Given the description of an element on the screen output the (x, y) to click on. 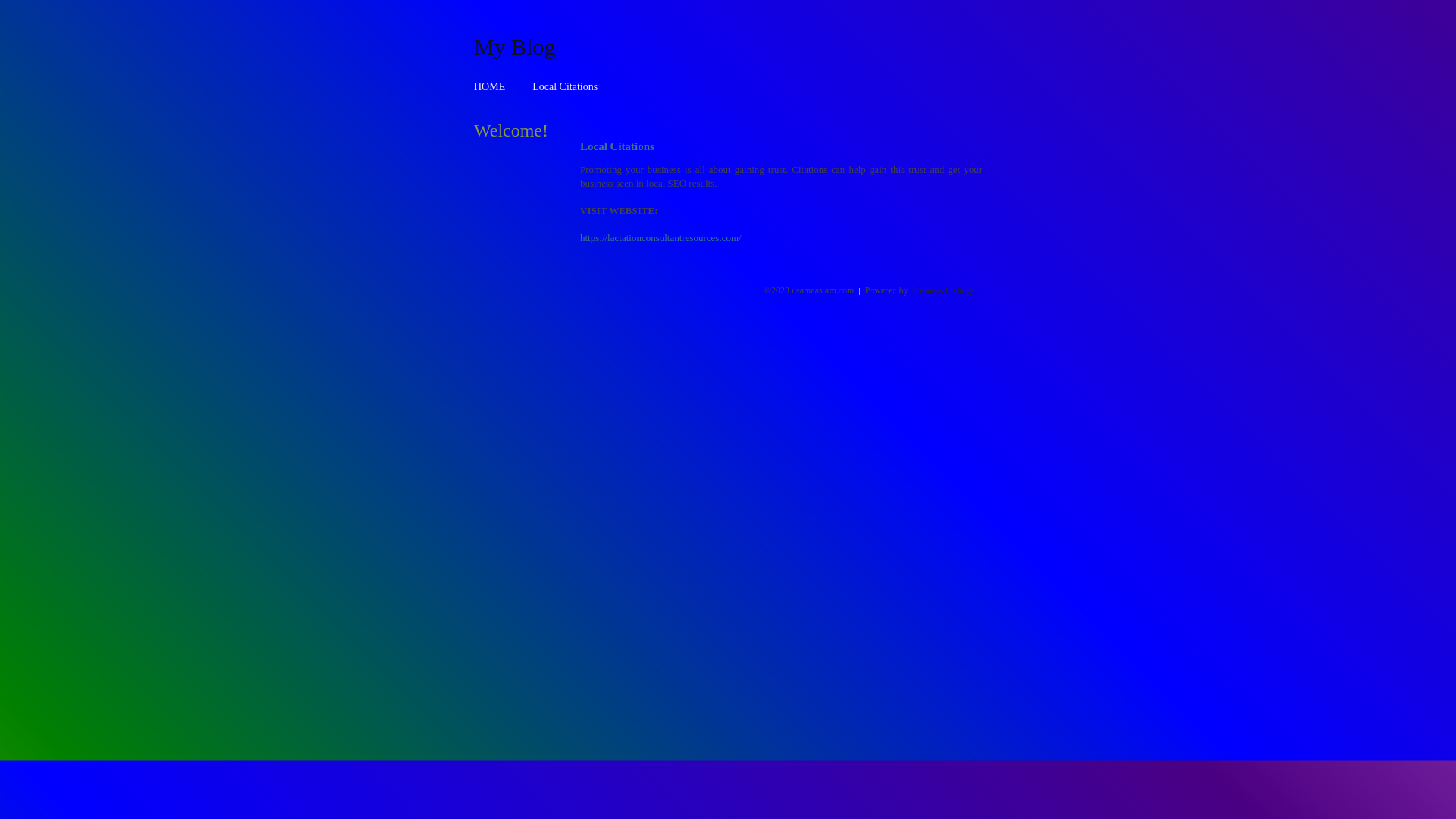
Business Listings Element type: text (942, 290)
HOME Element type: text (489, 86)
Local Citations Element type: text (564, 86)
https://lactationconsultantresources.com/ Element type: text (660, 237)
My Blog Element type: text (514, 46)
